Given the description of an element on the screen output the (x, y) to click on. 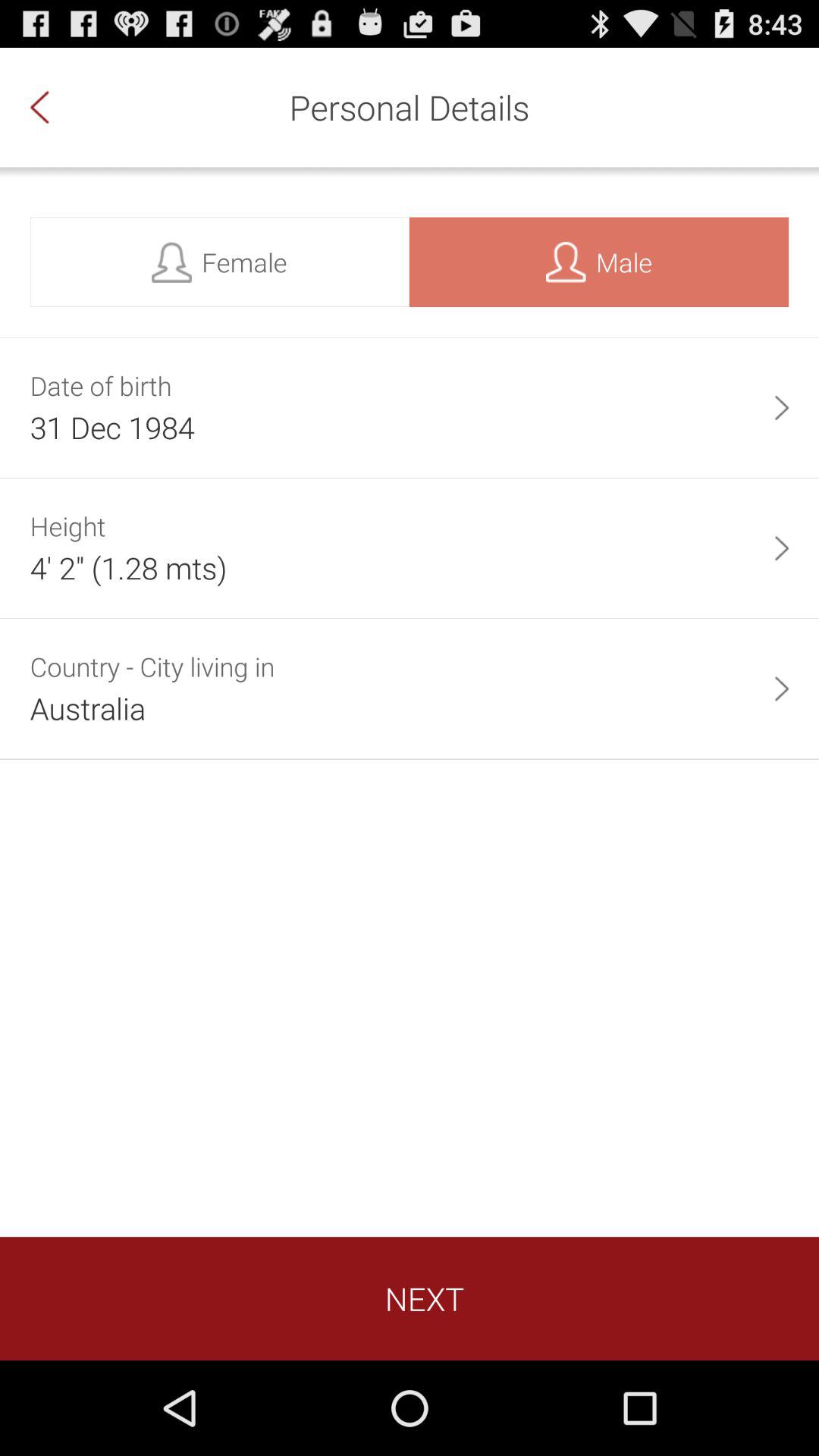
tap icon to the right of country city living (781, 688)
